Given the description of an element on the screen output the (x, y) to click on. 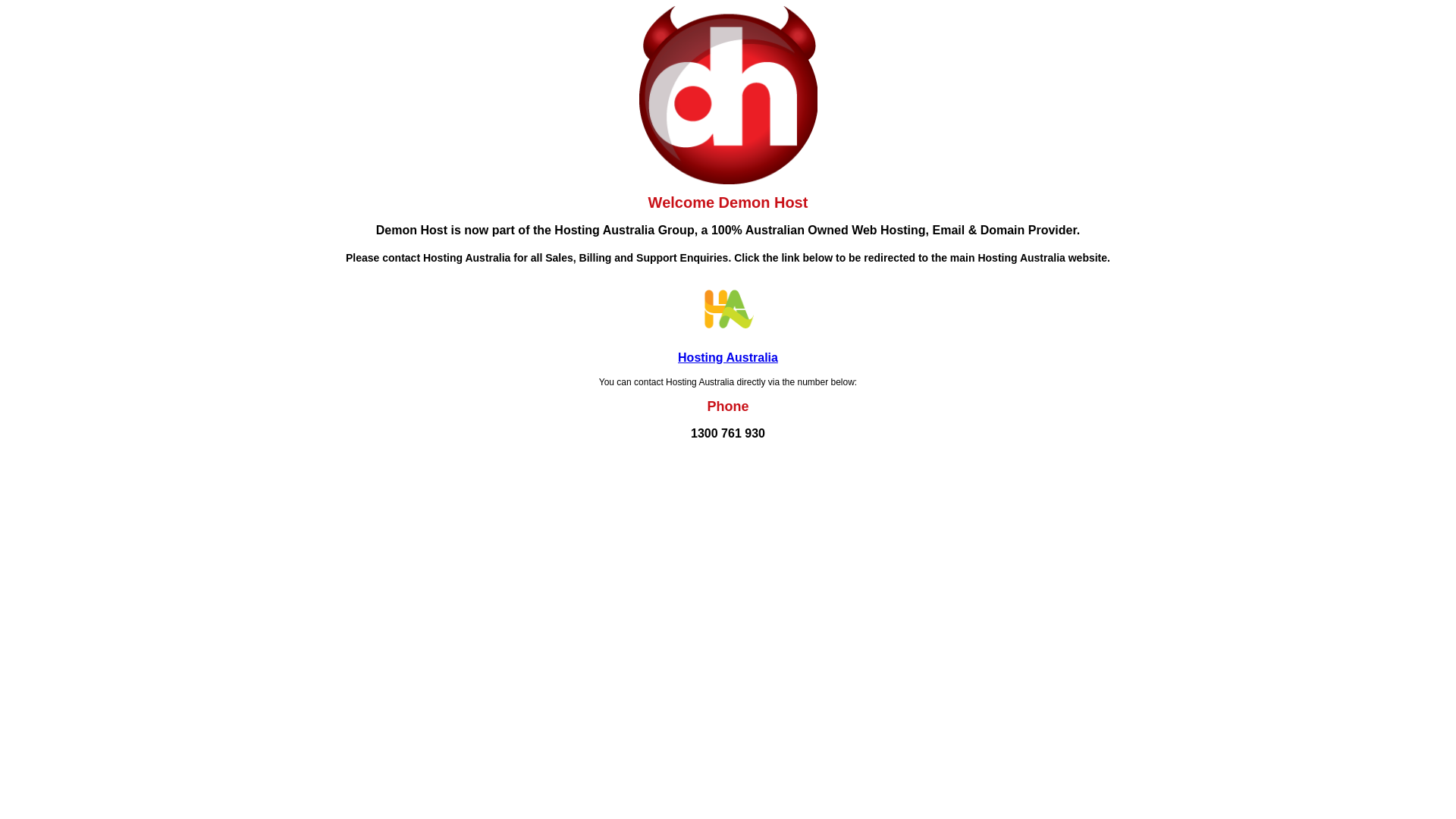
Hosting Australia Element type: text (727, 357)
